Given the description of an element on the screen output the (x, y) to click on. 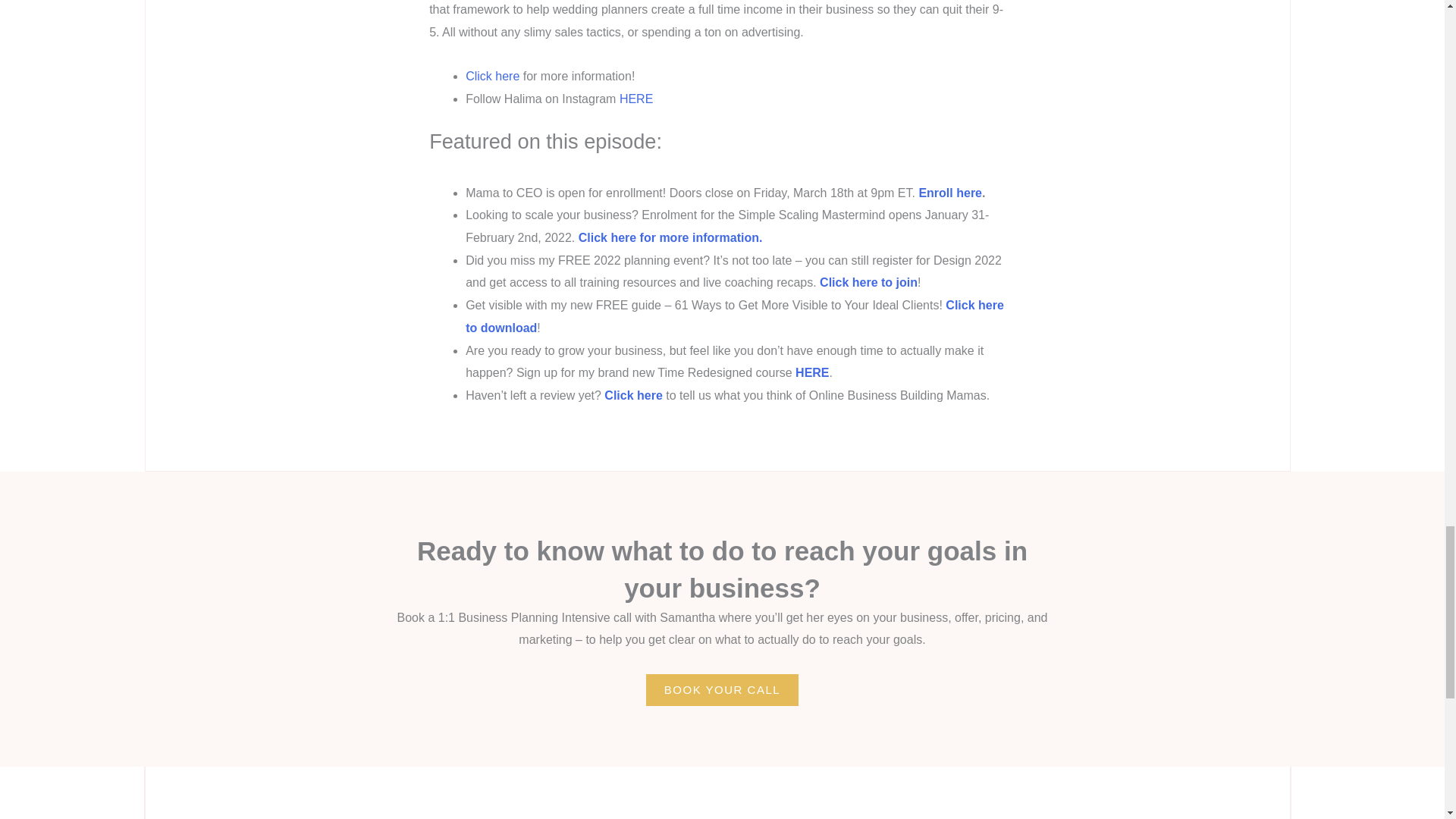
Click here (634, 395)
HERE (811, 372)
Enroll here (949, 192)
BOOK YOUR CALL (721, 689)
Click here to download (734, 316)
Click here to join (868, 282)
Click her (488, 75)
HERE (636, 98)
Click here for more information. (670, 237)
